Given the description of an element on the screen output the (x, y) to click on. 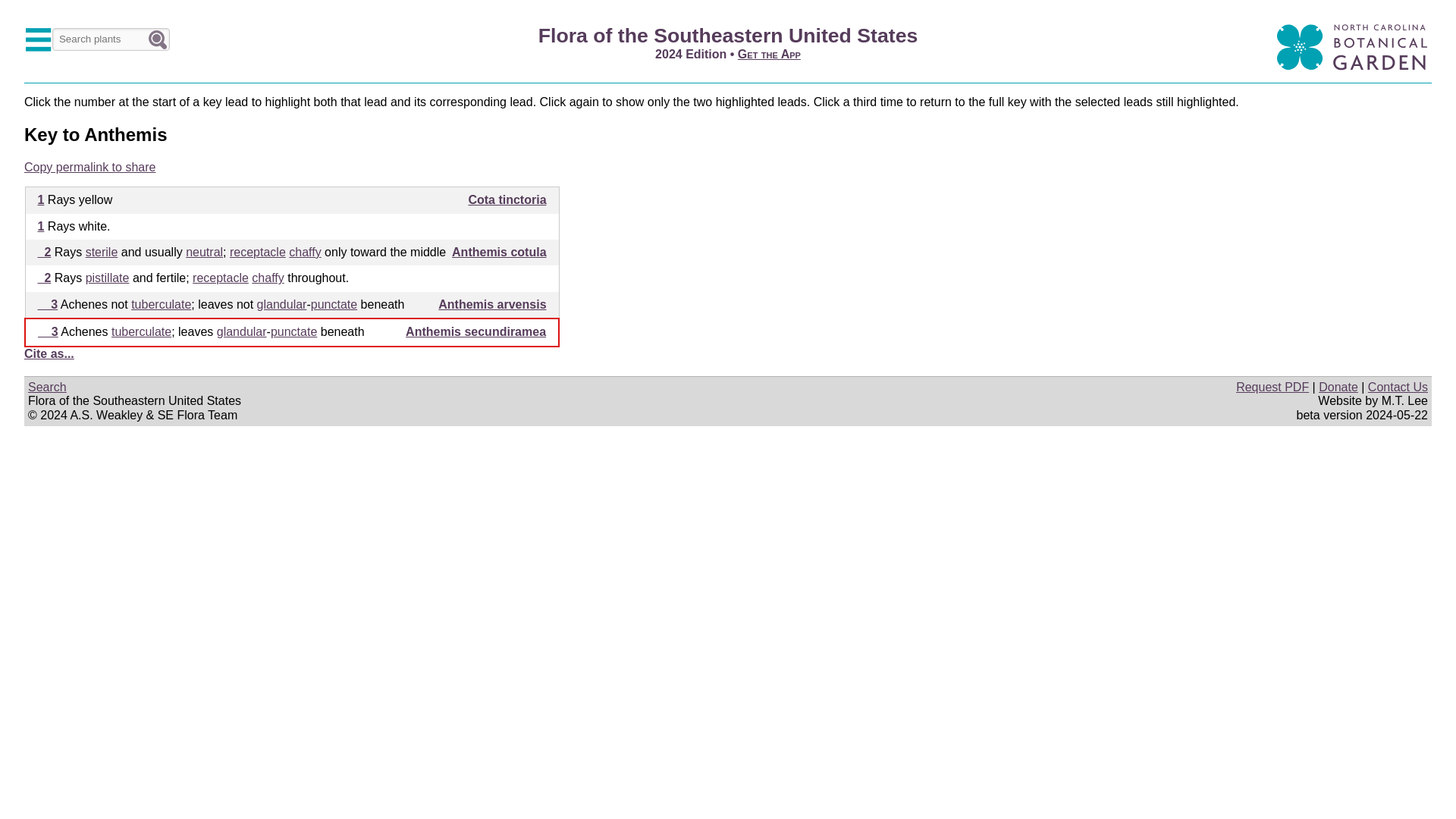
Get the App (769, 53)
glandular (241, 331)
punctate (293, 331)
Cota tinctoria (506, 199)
Anthemis cotula (498, 251)
Flora of the Southeastern United States (728, 35)
Contact Us (1398, 386)
Anthemis arvensis (492, 304)
neutral (204, 251)
sterile (101, 251)
Cite as... (49, 353)
tuberculate (160, 304)
receptacle (257, 251)
Copy permalink to share (89, 166)
pistillate (107, 277)
